Given the description of an element on the screen output the (x, y) to click on. 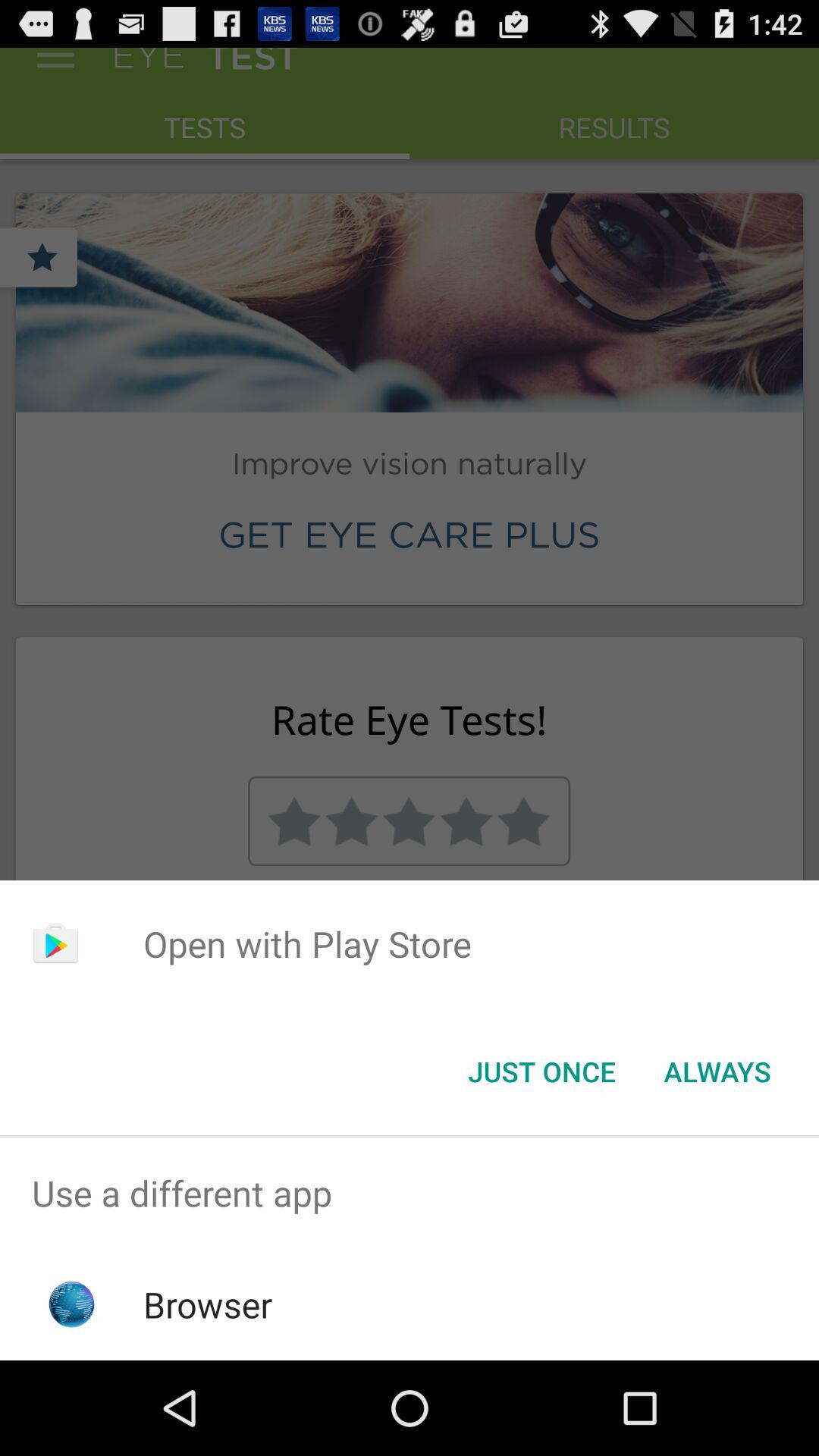
choose icon above browser item (409, 1192)
